Given the description of an element on the screen output the (x, y) to click on. 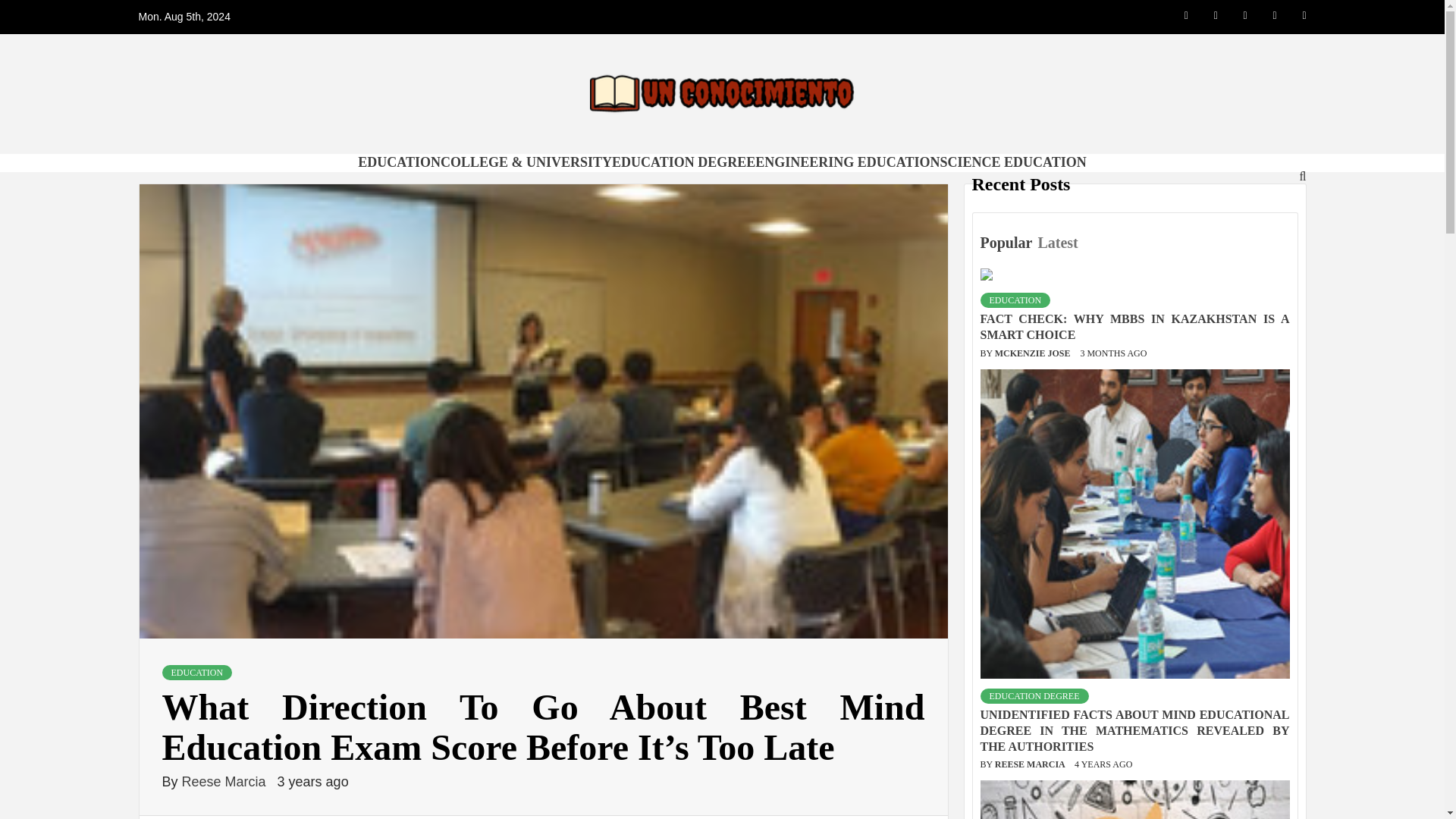
EDUCATION DEGREE (683, 161)
Latest (1058, 242)
FACT CHECK: WHY MBBS IN KAZAKHSTAN IS A SMART CHOICE (1133, 326)
MCKENZIE JOSE (1033, 353)
SCIENCE EDUCATION (1012, 161)
Reese Marcia (225, 781)
Popular (1007, 242)
REESE MARCIA (1030, 764)
ENGINEERING EDUCATION (847, 161)
EDUCATION (399, 161)
EDUCATION (1014, 299)
EDUCATION (196, 672)
UN CONOCIMIENTO (518, 158)
